Given the description of an element on the screen output the (x, y) to click on. 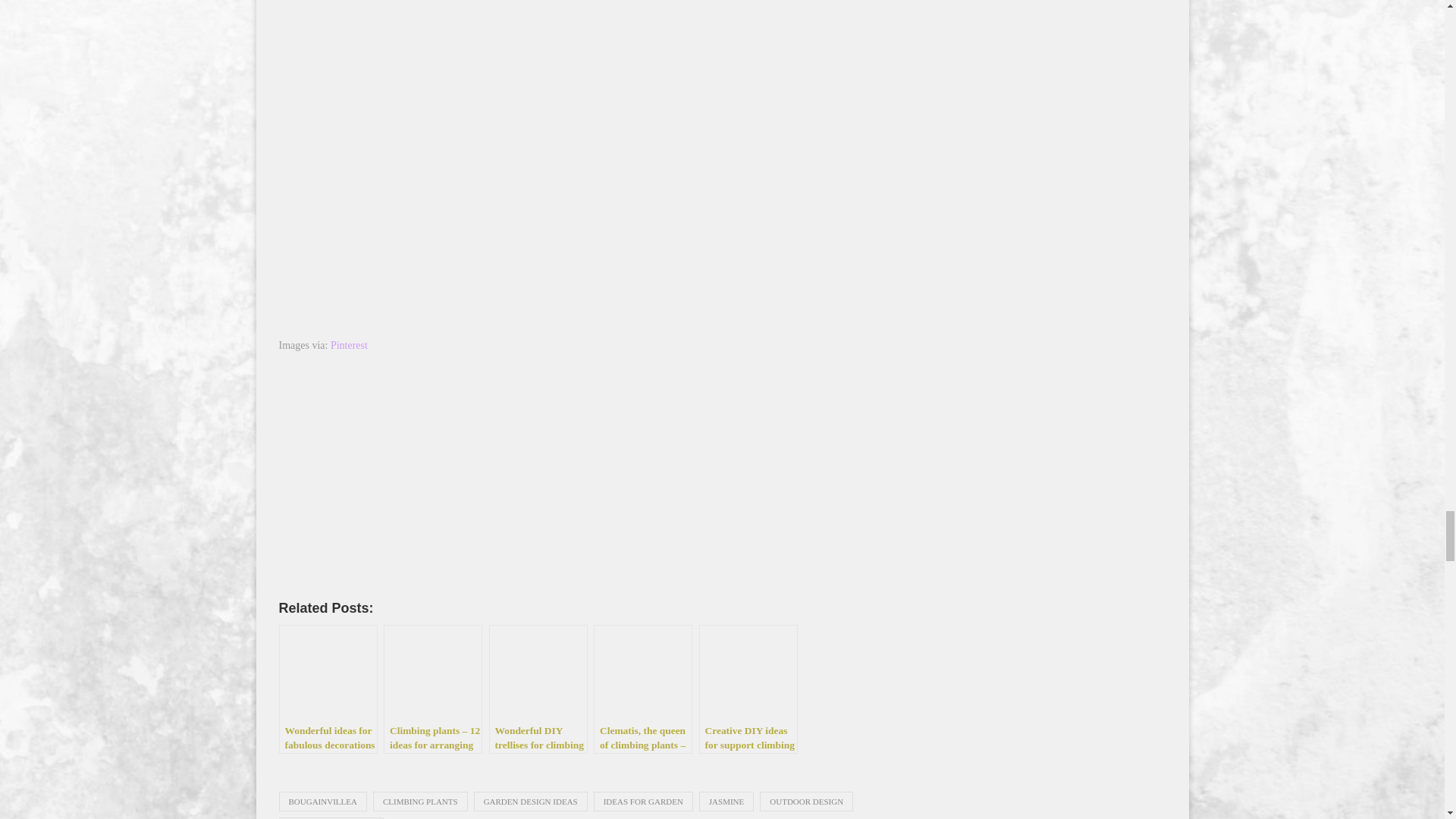
Wonderful DIY trellises for climbing plants (536, 688)
